Given the description of an element on the screen output the (x, y) to click on. 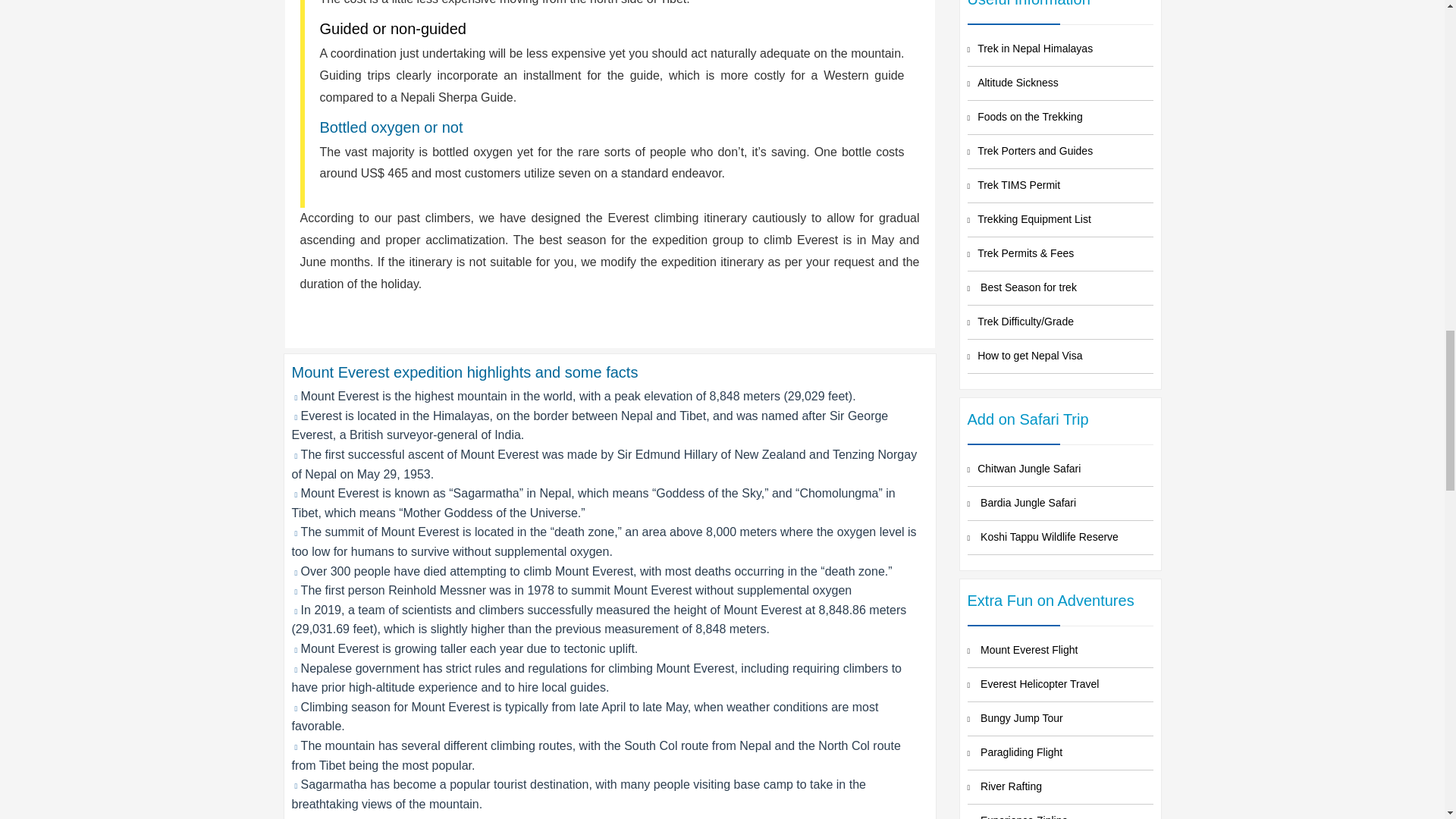
Trek equipment checklist (1060, 219)
Paragliding flight in Nepal (1060, 752)
Koshi tappu wildlife reserve tour package (1060, 537)
Foods along the trekking routes (1060, 117)
Chitwan Jungle Safari Tour Package (1060, 469)
How to get Nepal Visa (1060, 356)
Nepal Trekking (1060, 49)
Everest experience mountain flight (1060, 650)
Nepal Trek Difficulty (1060, 322)
Experience the Zipline fly (1060, 811)
